Given the description of an element on the screen output the (x, y) to click on. 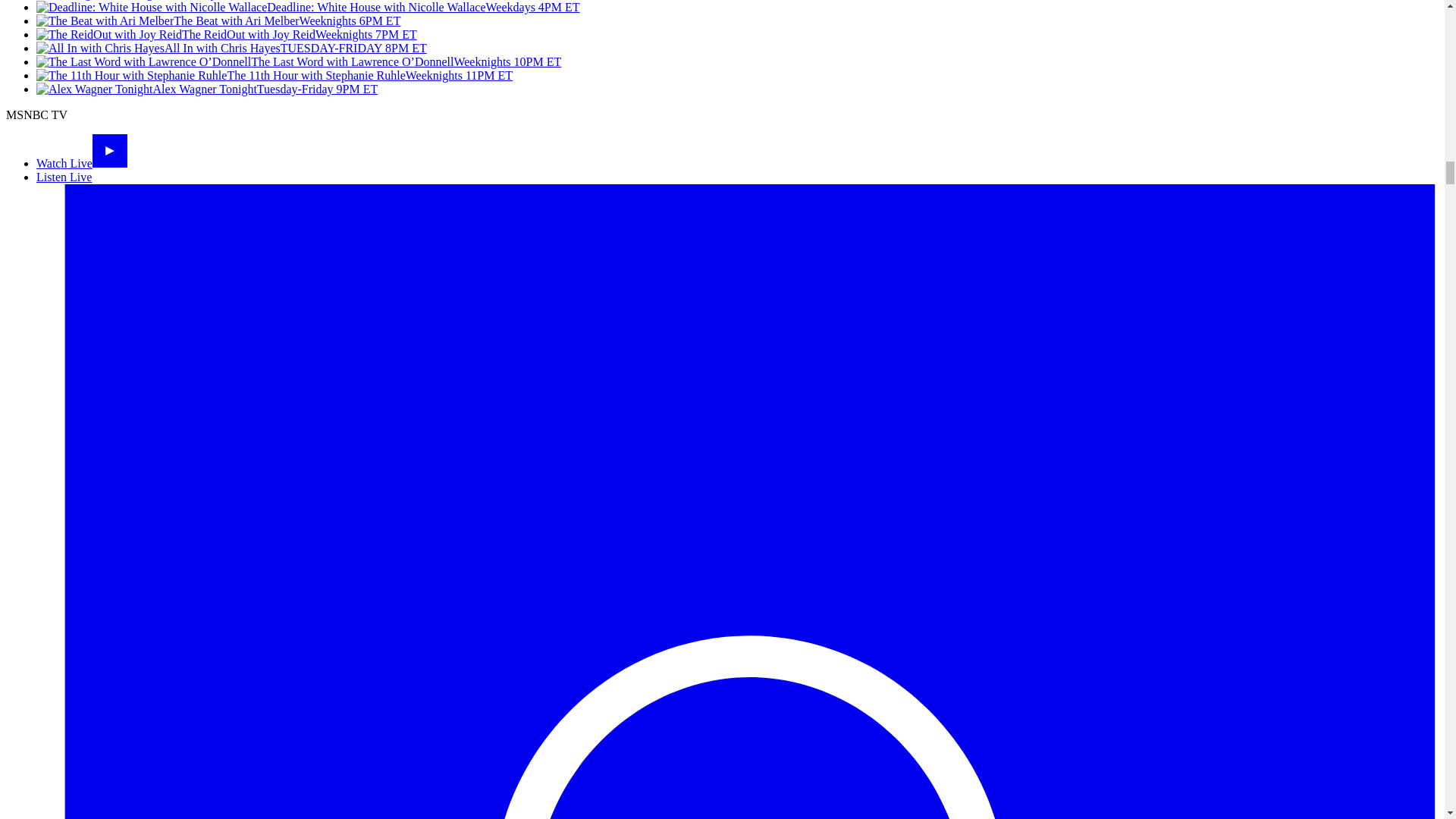
Alex Wagner TonightTuesday-Friday 9PM ET (206, 88)
The 11th Hour with Stephanie RuhleWeeknights 11PM ET (274, 74)
All In with Chris HayesTUESDAY-FRIDAY 8PM ET (231, 47)
The Beat with Ari MelberWeeknights 6PM ET (218, 20)
Watch Live (82, 163)
The ReidOut with Joy ReidWeeknights 7PM ET (226, 33)
Deadline: White House with Nicolle WallaceWeekdays 4PM ET (307, 6)
